Given the description of an element on the screen output the (x, y) to click on. 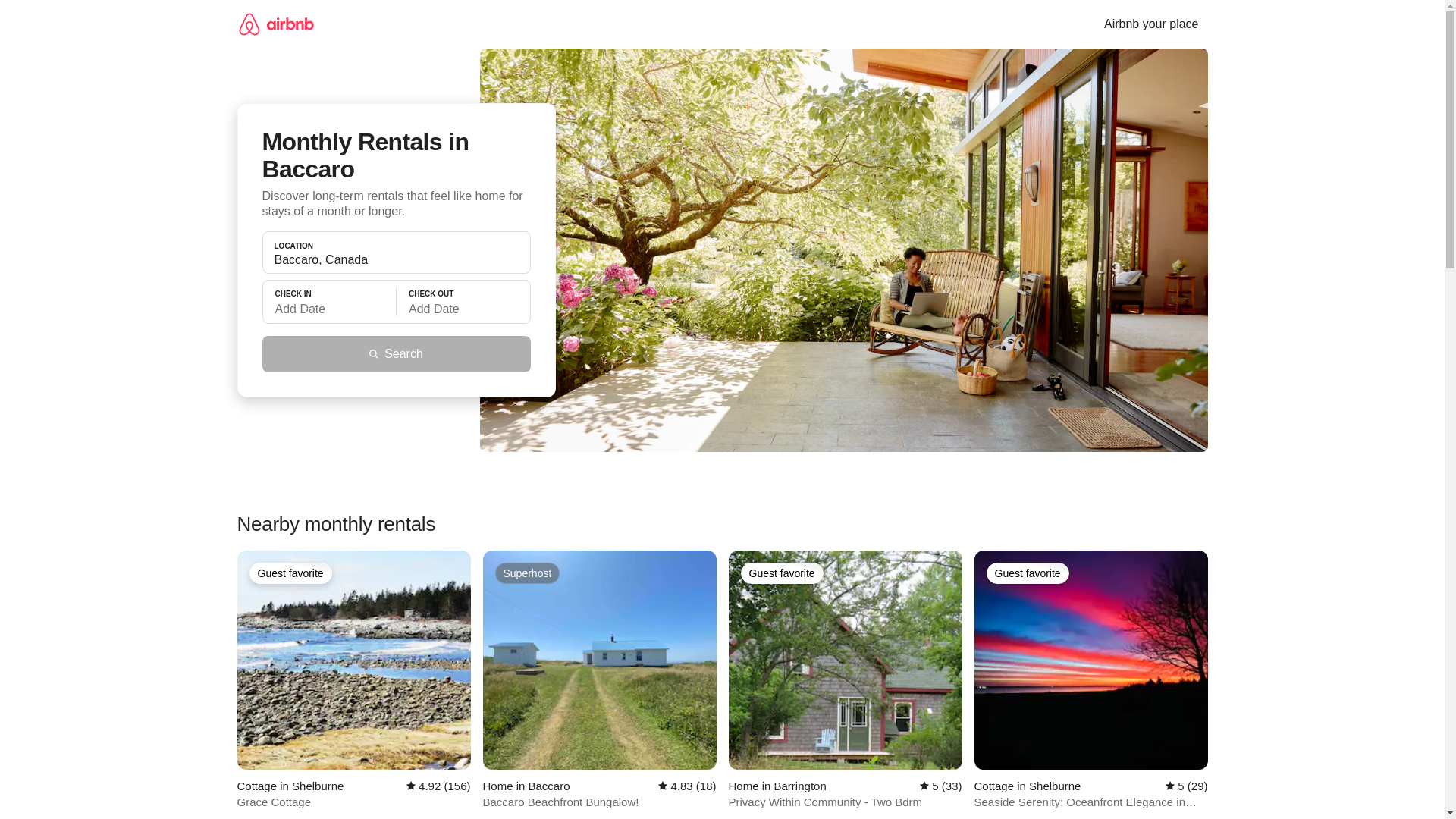
Search (396, 353)
Airbnb your place (1151, 23)
Baccaro, Canada (396, 259)
